Given the description of an element on the screen output the (x, y) to click on. 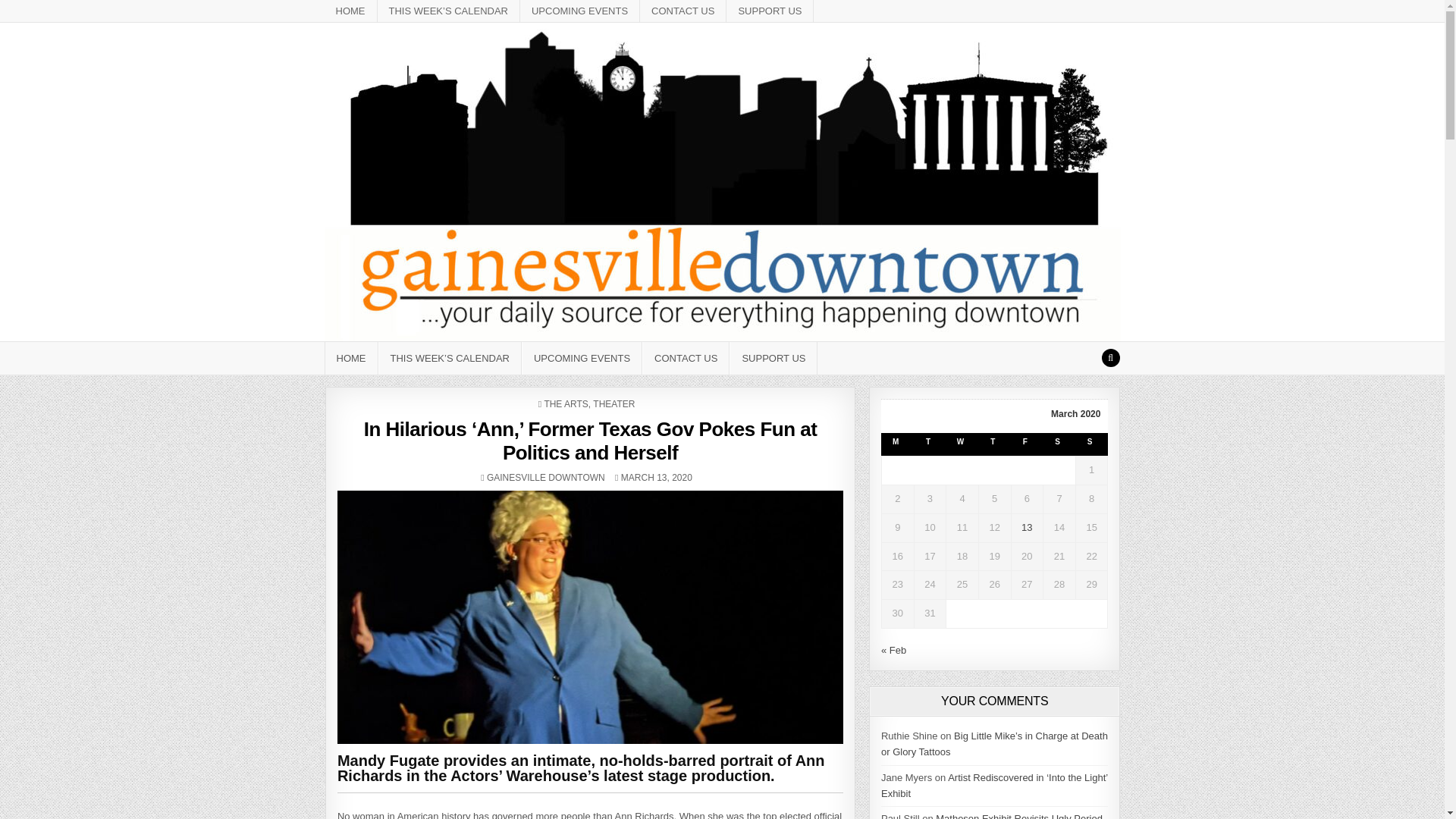
UPCOMING EVENTS (581, 358)
THE ARTS (565, 403)
HOME (545, 477)
SUPPORT US (351, 358)
CONTACT US (772, 358)
SUPPORT US (685, 358)
UPCOMING EVENTS (769, 11)
THEATER (579, 11)
CONTACT US (613, 403)
Search (683, 11)
HOME (1109, 357)
